Given the description of an element on the screen output the (x, y) to click on. 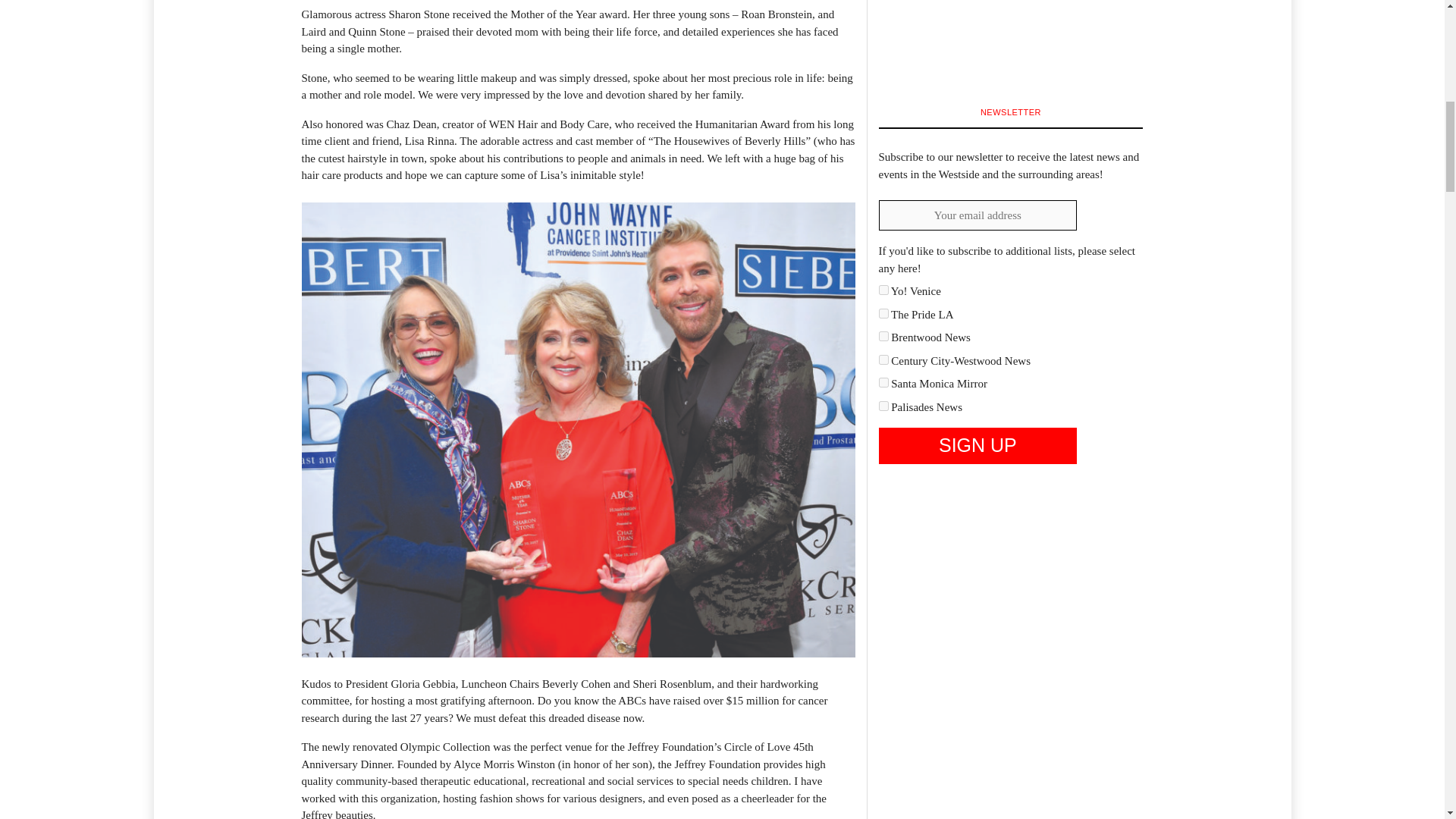
d0b5733862 (882, 382)
33f79e7e4d (882, 313)
5fac618226 (882, 359)
ec7d882848 (882, 406)
382281a661 (882, 336)
Sign up (977, 445)
2c616d28b5 (882, 289)
